Given the description of an element on the screen output the (x, y) to click on. 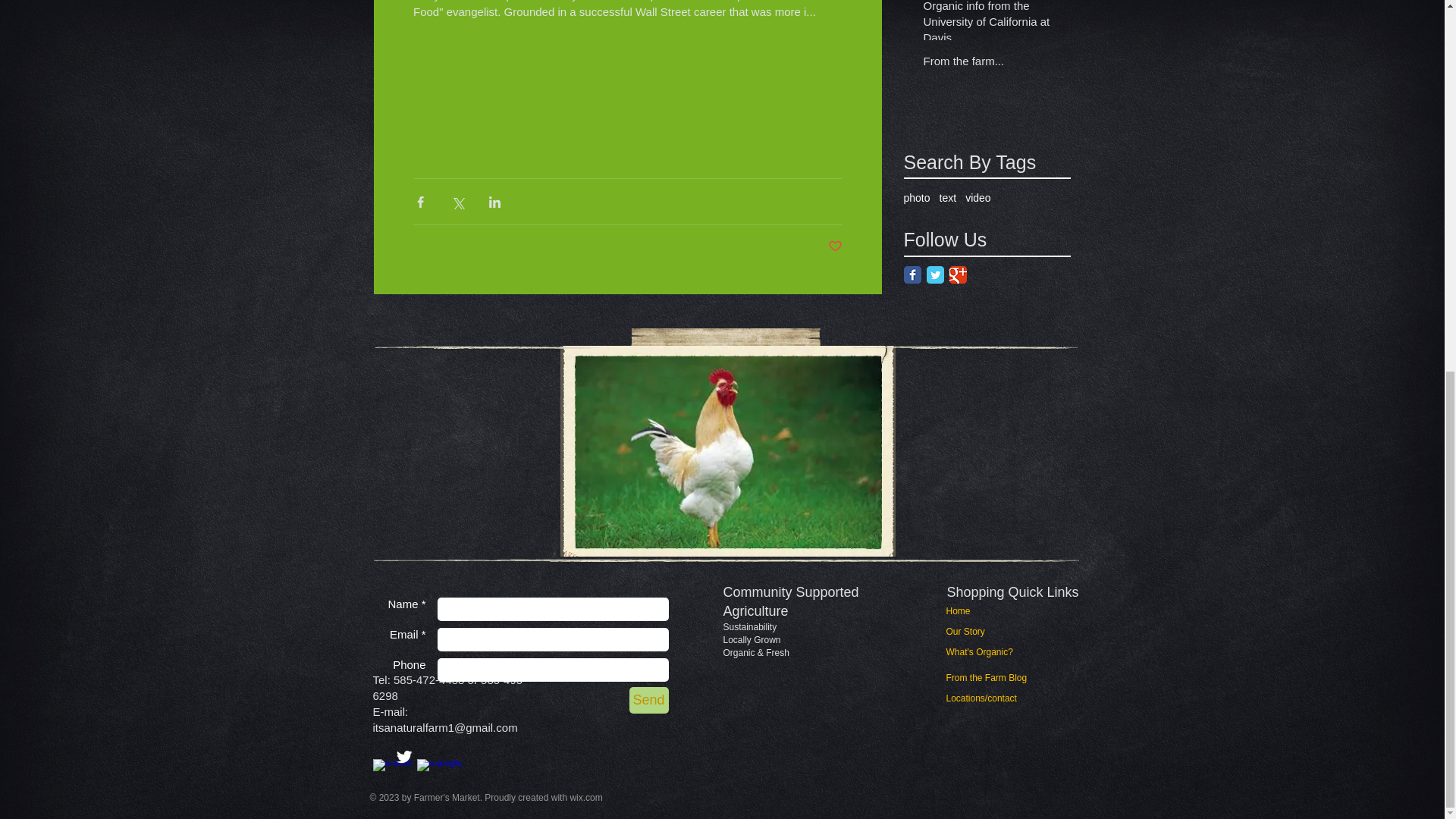
Send (648, 700)
text (947, 197)
What's Organic? (986, 652)
video (977, 197)
Organic info from the University of California at Davis (992, 25)
Post not marked as liked (835, 246)
From the Farm Blog (987, 677)
From the farm... (992, 64)
Our Story (974, 631)
photo (917, 197)
Home (974, 611)
